Given the description of an element on the screen output the (x, y) to click on. 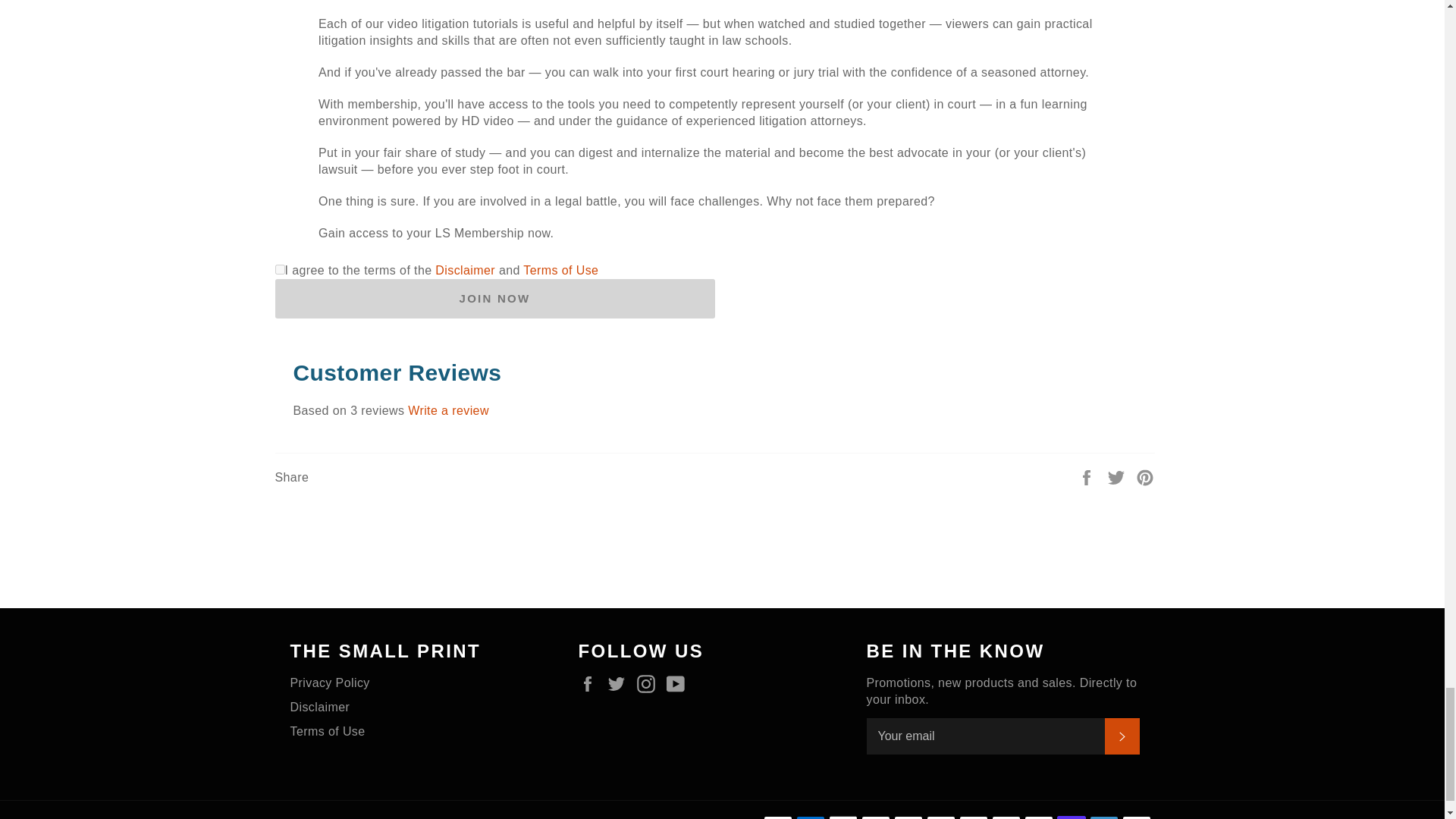
Pin on Pinterest (1144, 476)
Legal Seagull on Facebook (591, 683)
on (279, 269)
Tweet on Twitter (1117, 476)
Legal Seagull on YouTube (679, 683)
Share on Facebook (1088, 476)
Legal Seagull on Twitter (620, 683)
Legal Seagull on Instagram (649, 683)
